Given the description of an element on the screen output the (x, y) to click on. 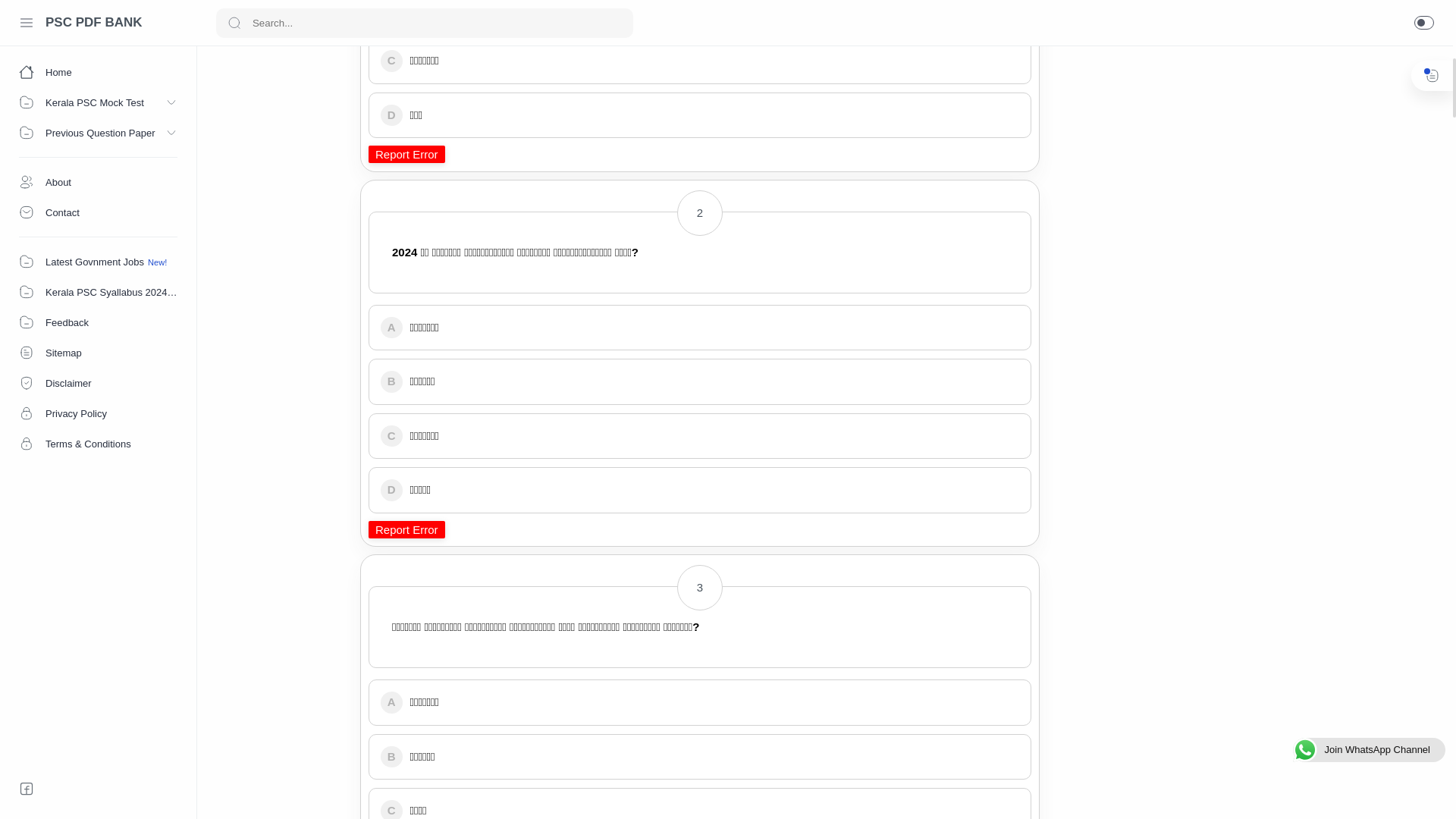
Report Error (406, 529)
Report Error (406, 153)
